Given the description of an element on the screen output the (x, y) to click on. 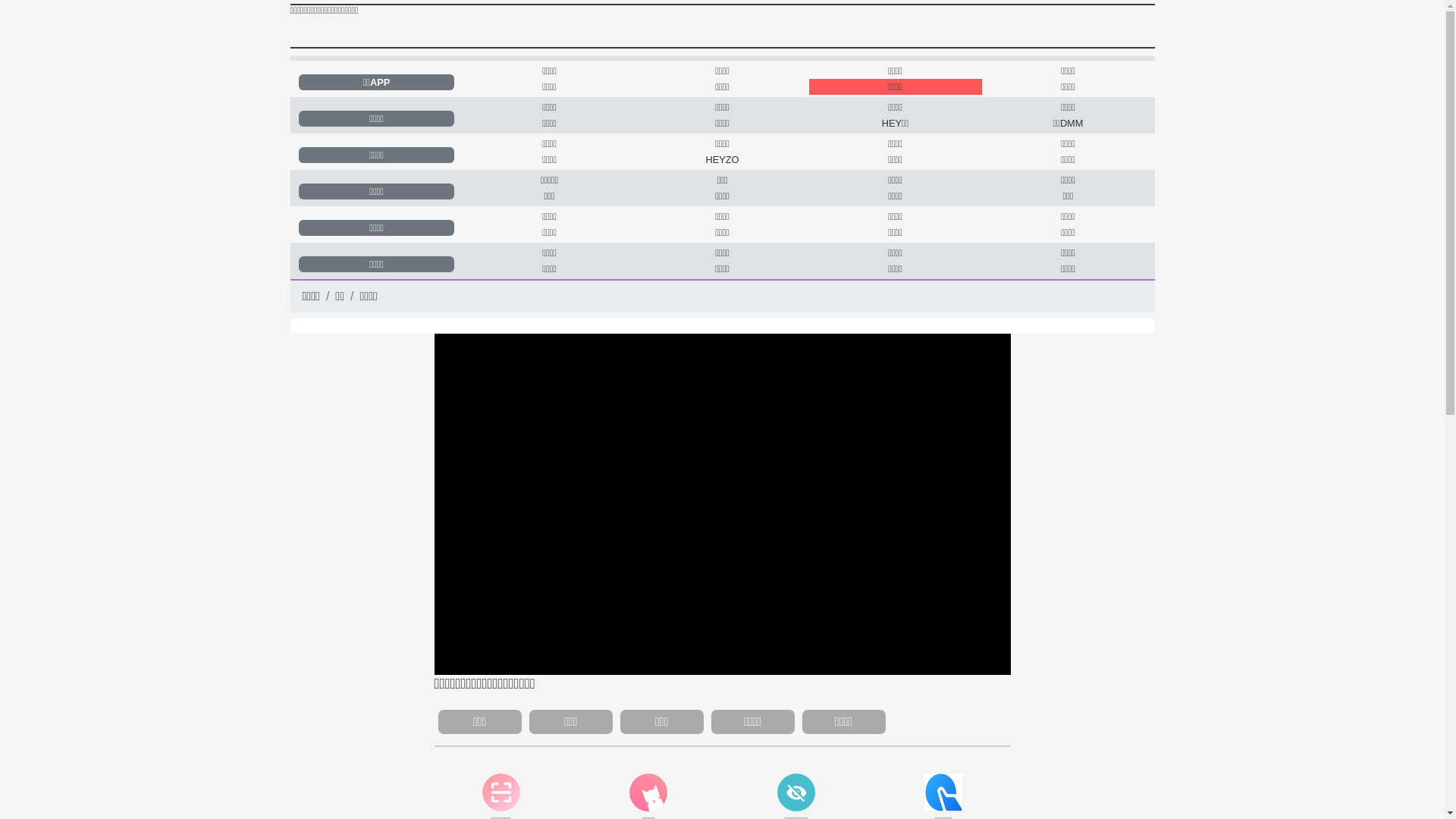
HEYZO Element type: text (722, 159)
